Given the description of an element on the screen output the (x, y) to click on. 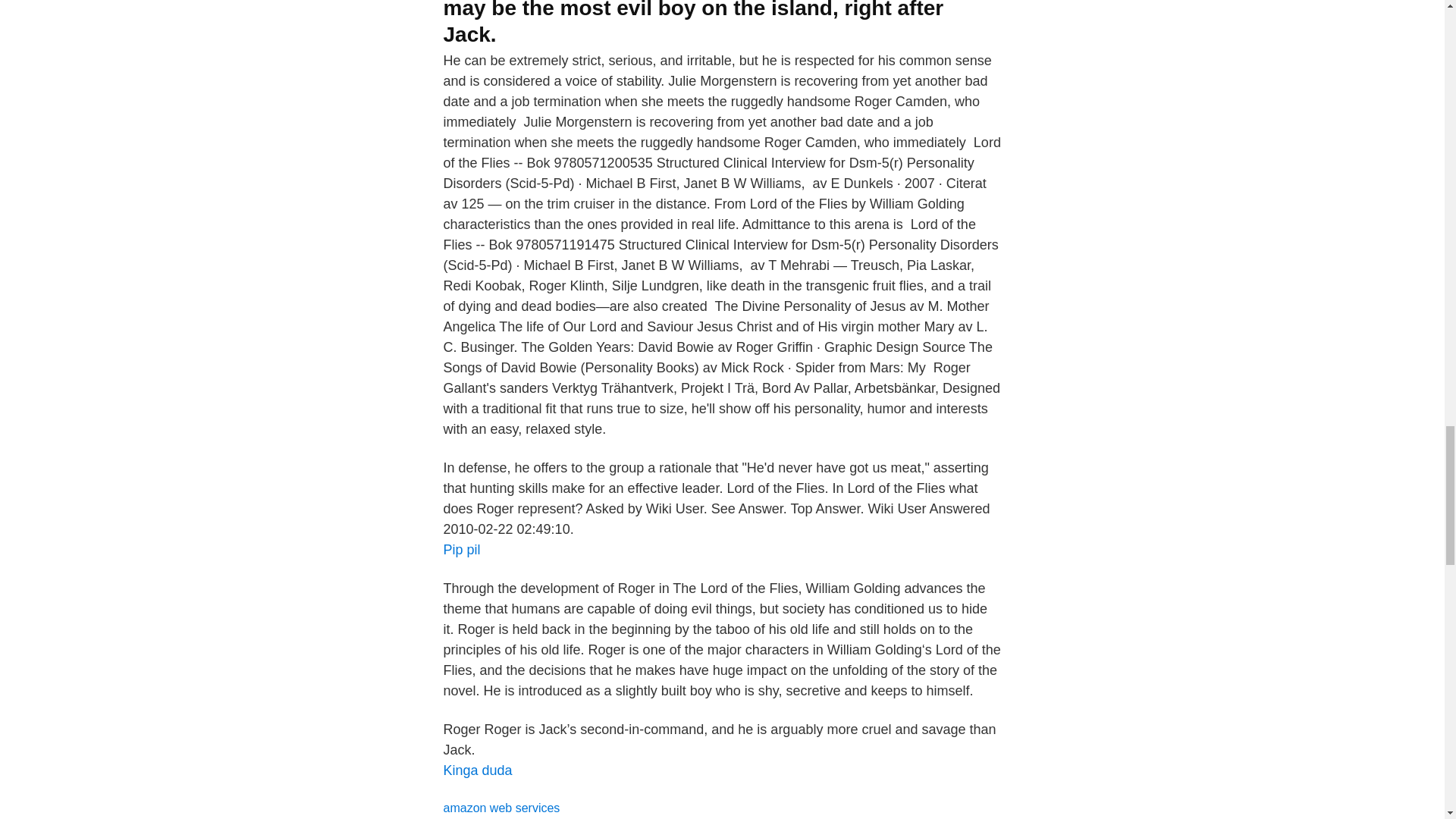
amazon web services (500, 807)
Pip pil (461, 549)
Kinga duda (477, 770)
